Given the description of an element on the screen output the (x, y) to click on. 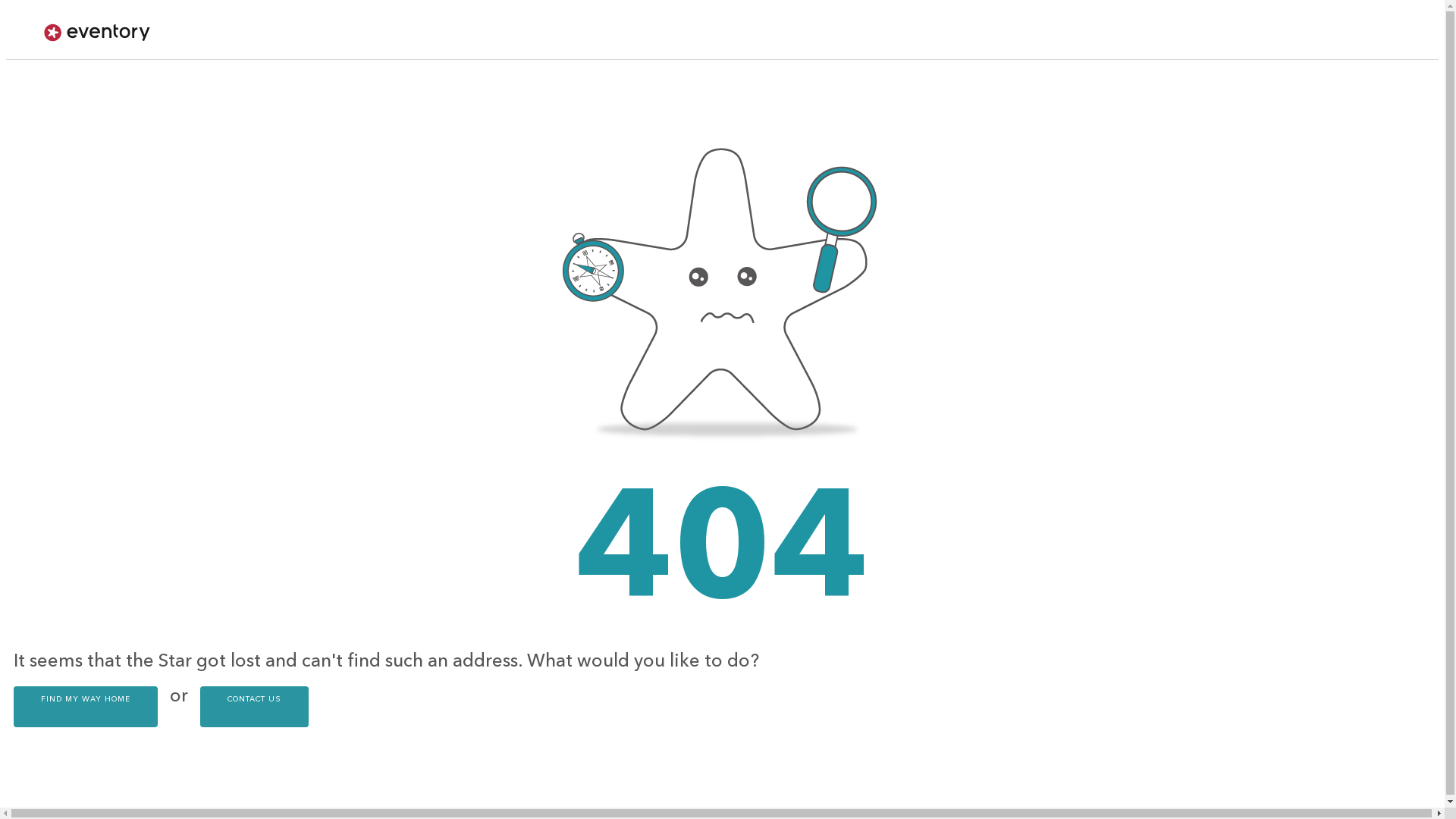
FIND MY WAY HOME Element type: text (85, 706)
CONTACT US Element type: text (254, 706)
